Given the description of an element on the screen output the (x, y) to click on. 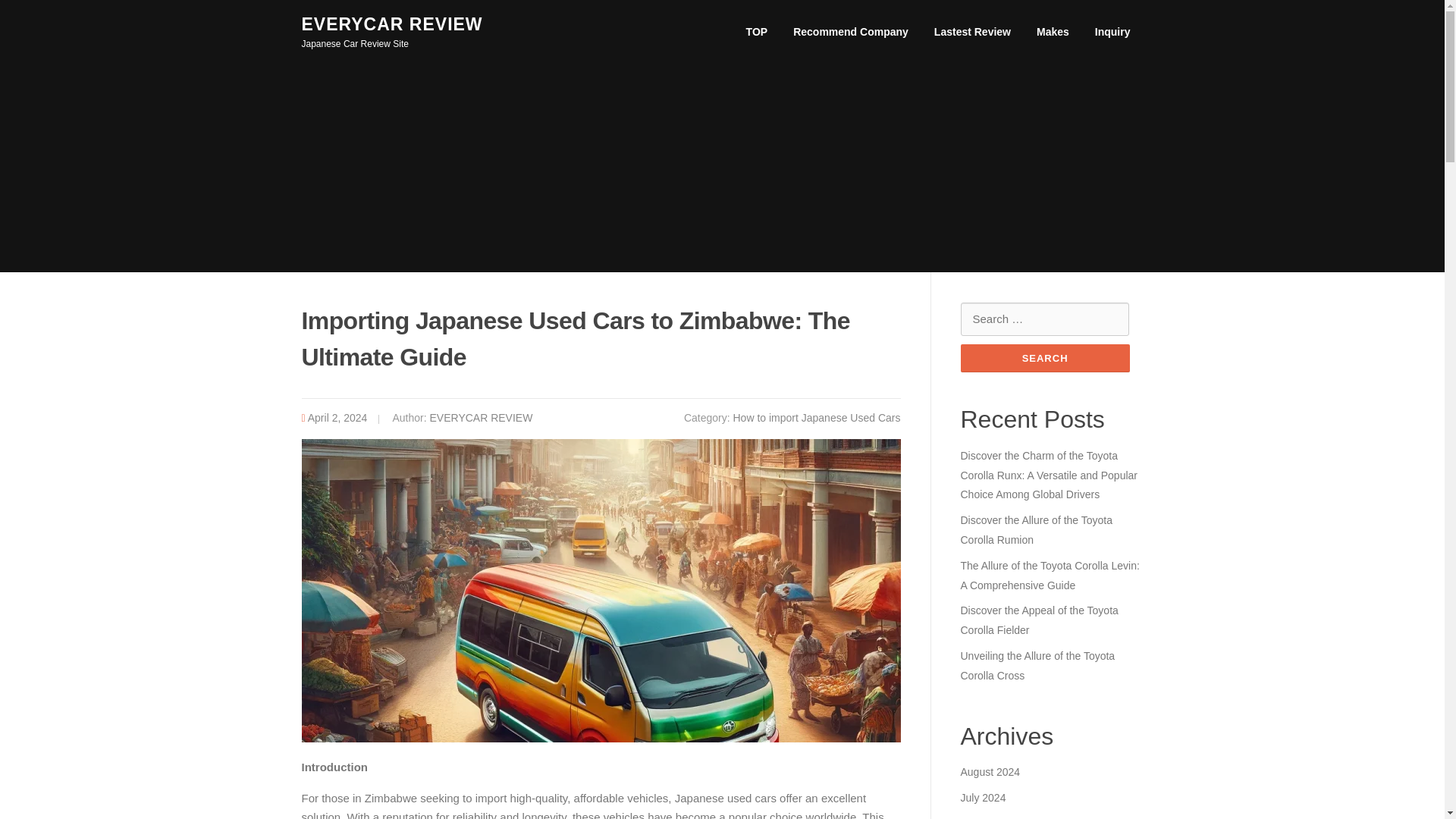
How to import Japanese Used Cars (815, 417)
August 2024 (989, 771)
June 2024 (984, 818)
EVERYCAR REVIEW (392, 23)
July 2024 (982, 797)
Lastest Review (972, 32)
Unveiling the Allure of the Toyota Corolla Cross (1037, 665)
Inquiry (1111, 32)
Search (1044, 357)
Discover the Allure of the Toyota Corolla Rumion (1035, 530)
Discover the Appeal of the Toyota Corolla Fielder (1038, 620)
Search (1044, 357)
Recommend Company (850, 32)
